Given the description of an element on the screen output the (x, y) to click on. 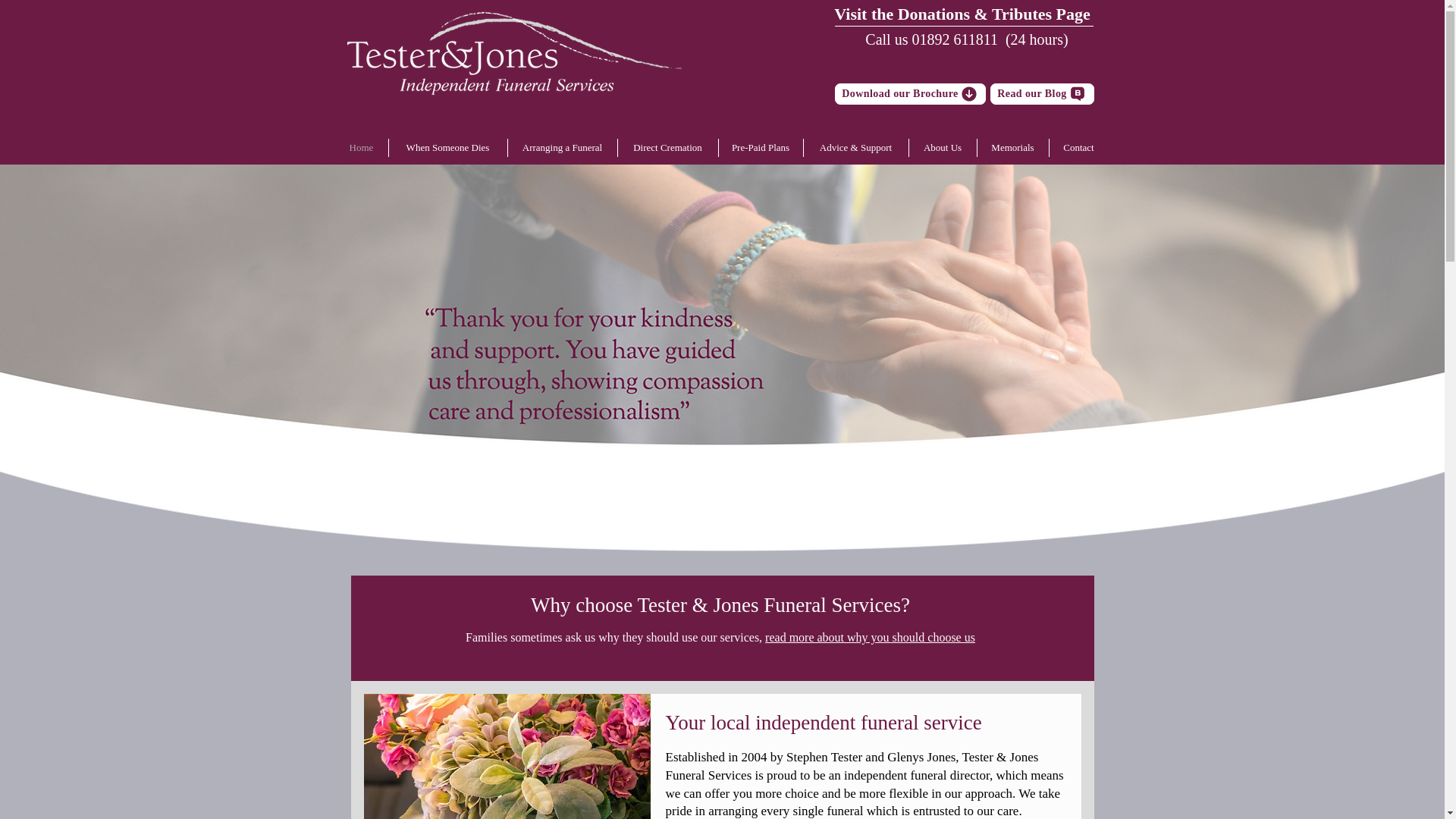
Pre-Paid Plans (761, 147)
Memorials (1012, 147)
read more about why you should choose us (870, 636)
Read our Blog (1042, 93)
Download our Brochure (909, 93)
Home (361, 147)
Direct Cremation (667, 147)
Arranging a Funeral (562, 147)
About Us (941, 147)
Contact (1078, 147)
